Given the description of an element on the screen output the (x, y) to click on. 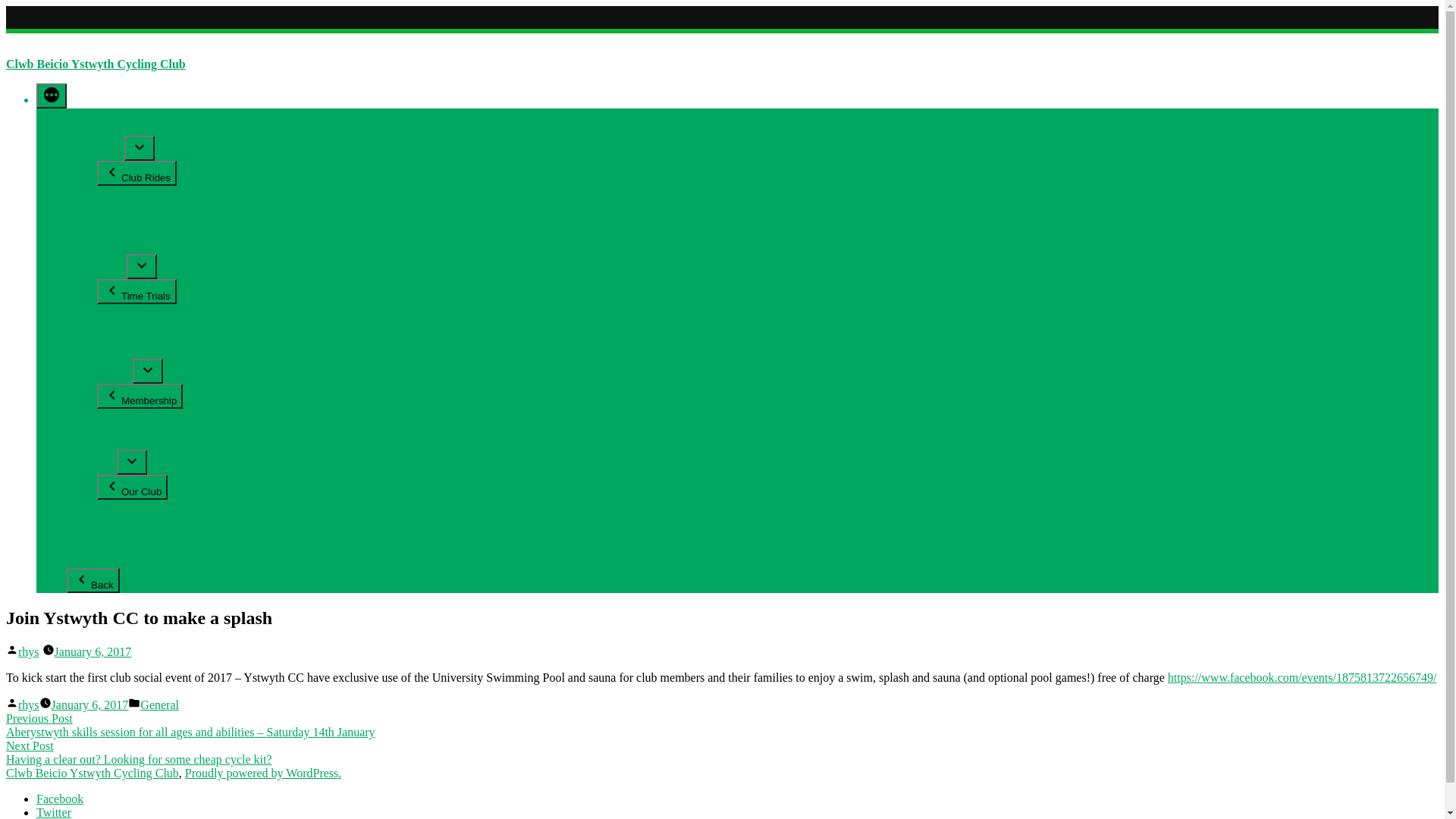
Club Rides Element type: text (95, 151)
Facebook Element type: text (59, 798)
Juniors Element type: text (86, 428)
General Element type: text (159, 704)
News Element type: text (80, 128)
Time Trials Element type: text (96, 269)
Mountain Biking Element type: text (141, 246)
Club Kit Element type: text (119, 414)
Home Element type: text (81, 114)
2023 Catalina Architecture Time Trial Series Element type: text (212, 310)
Time Trials Element type: text (136, 291)
Time Trial Results Element type: text (144, 323)
Time Trial Records Element type: text (147, 337)
Our Club Element type: text (132, 486)
Back Element type: text (92, 580)
Time Trial Courses Element type: text (147, 351)
Beginner Ride Element type: text (134, 191)
Committee Element type: text (125, 505)
Sunday Social Ride Element type: text (147, 205)
Club Rides Element type: text (136, 172)
January 6, 2017 Element type: text (89, 704)
Triathlon Element type: text (91, 442)
Sunday Club Run Element type: text (143, 219)
Covid-19 Guidance Element type: text (116, 560)
January 6, 2017 Element type: text (92, 651)
History Element type: text (116, 533)
rhys Element type: text (28, 651)
rhys Element type: text (28, 704)
Clwb Beicio Ystwyth Cycling Club Element type: text (95, 63)
Chaingang Element type: text (125, 232)
Events Element type: text (83, 546)
Our Club Element type: text (91, 465)
Membership Element type: text (139, 395)
Clwb Beicio Ystwyth Cycling Club Element type: text (92, 772)
Club Constitution Element type: text (143, 519)
Skip to content Element type: text (5, 5)
Proudly powered by WordPress. Element type: text (263, 772)
Membership Element type: text (99, 374)
https://www.facebook.com/events/1875813722656749/ Element type: text (1301, 677)
